Given the description of an element on the screen output the (x, y) to click on. 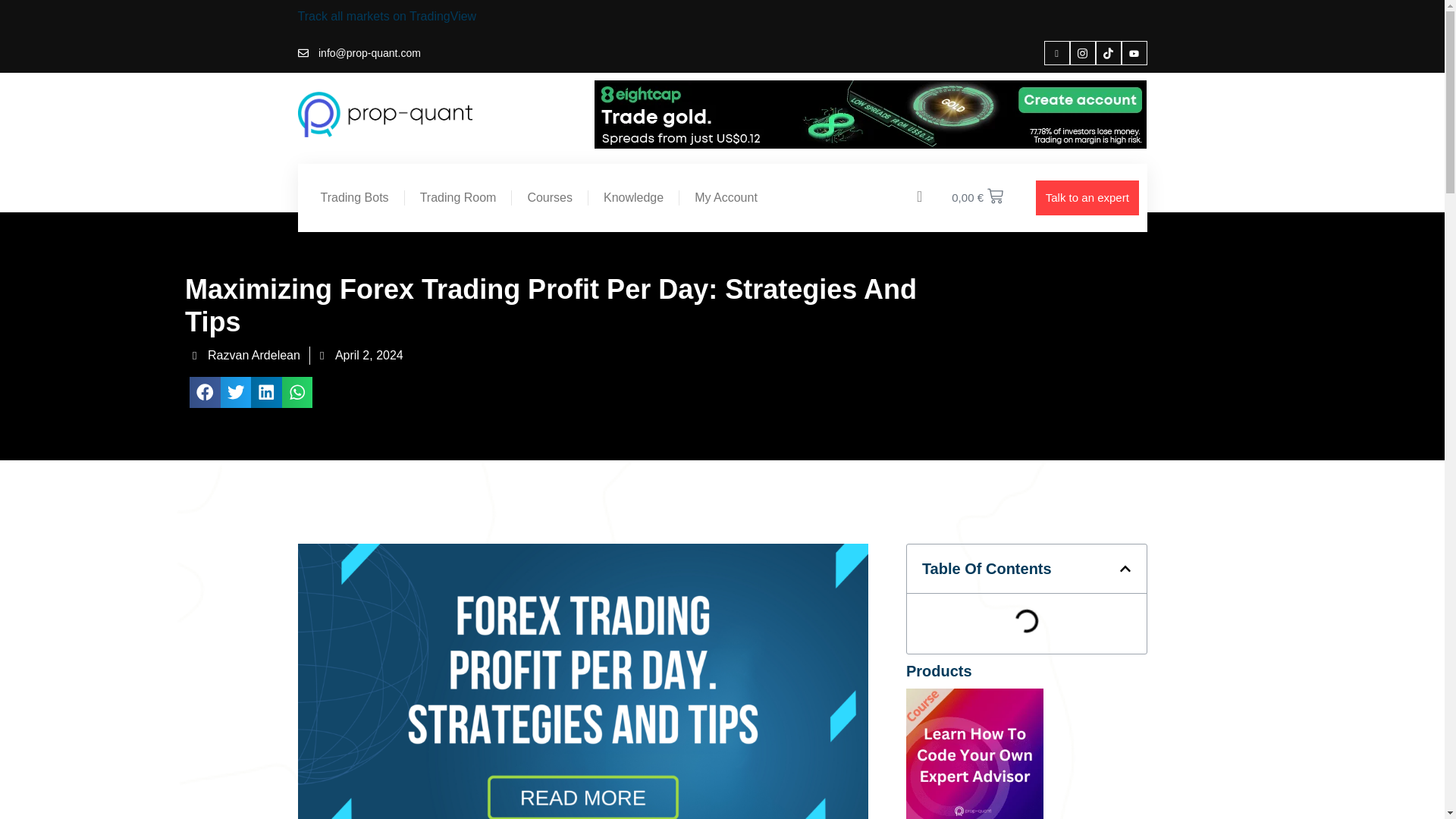
Knowledge (633, 197)
Courses (550, 197)
Track all markets on TradingView (386, 15)
My Account (726, 197)
Trading Room (458, 197)
Trading Bots (353, 197)
